Given the description of an element on the screen output the (x, y) to click on. 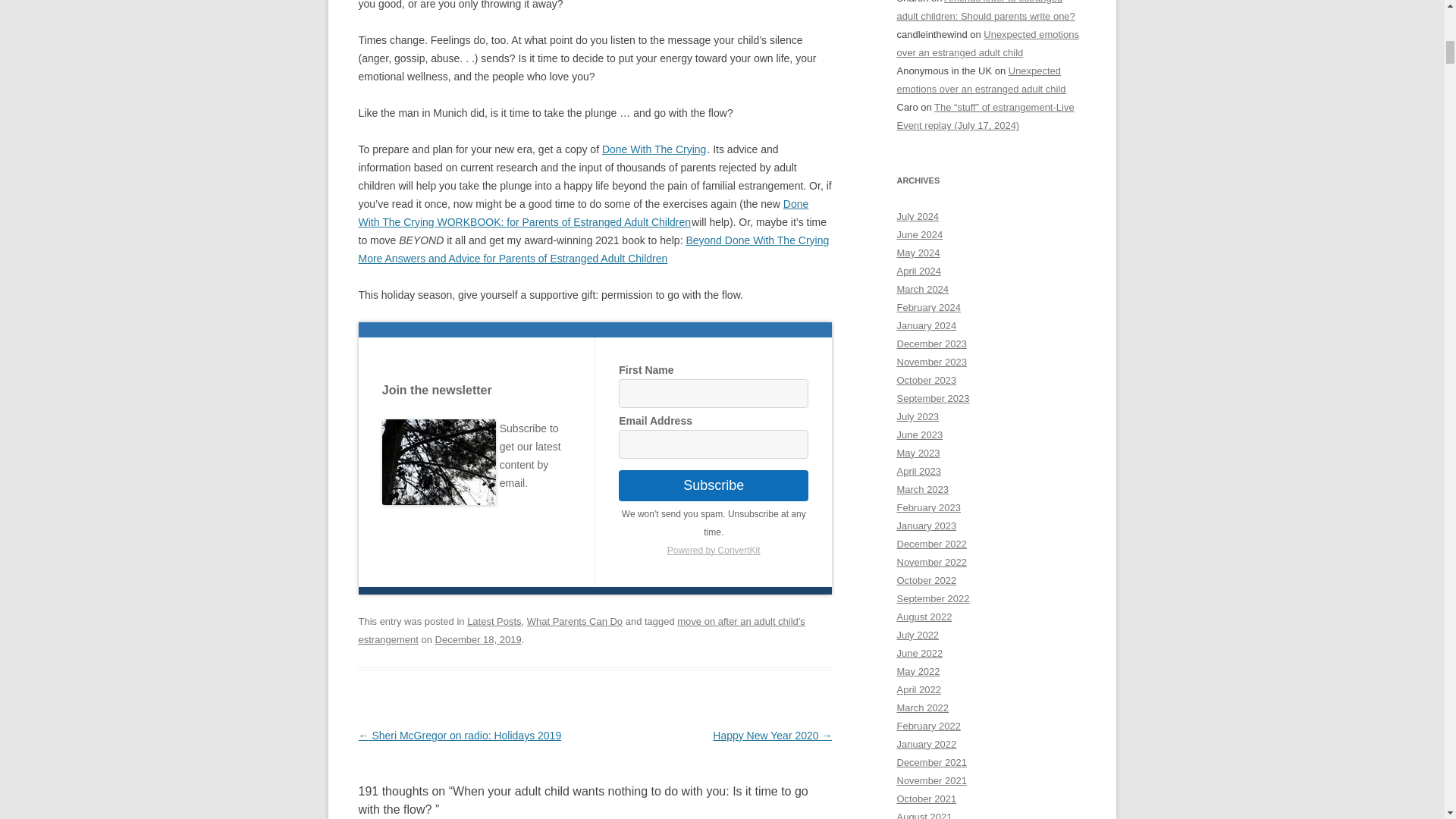
Done With The Crying (654, 149)
Powered by ConvertKit (713, 550)
3:08 pm (478, 639)
Subscribe (713, 485)
December 18, 2019 (478, 639)
Latest Posts (494, 621)
move on after an adult child's estrangement (581, 630)
What Parents Can Do (575, 621)
